Given the description of an element on the screen output the (x, y) to click on. 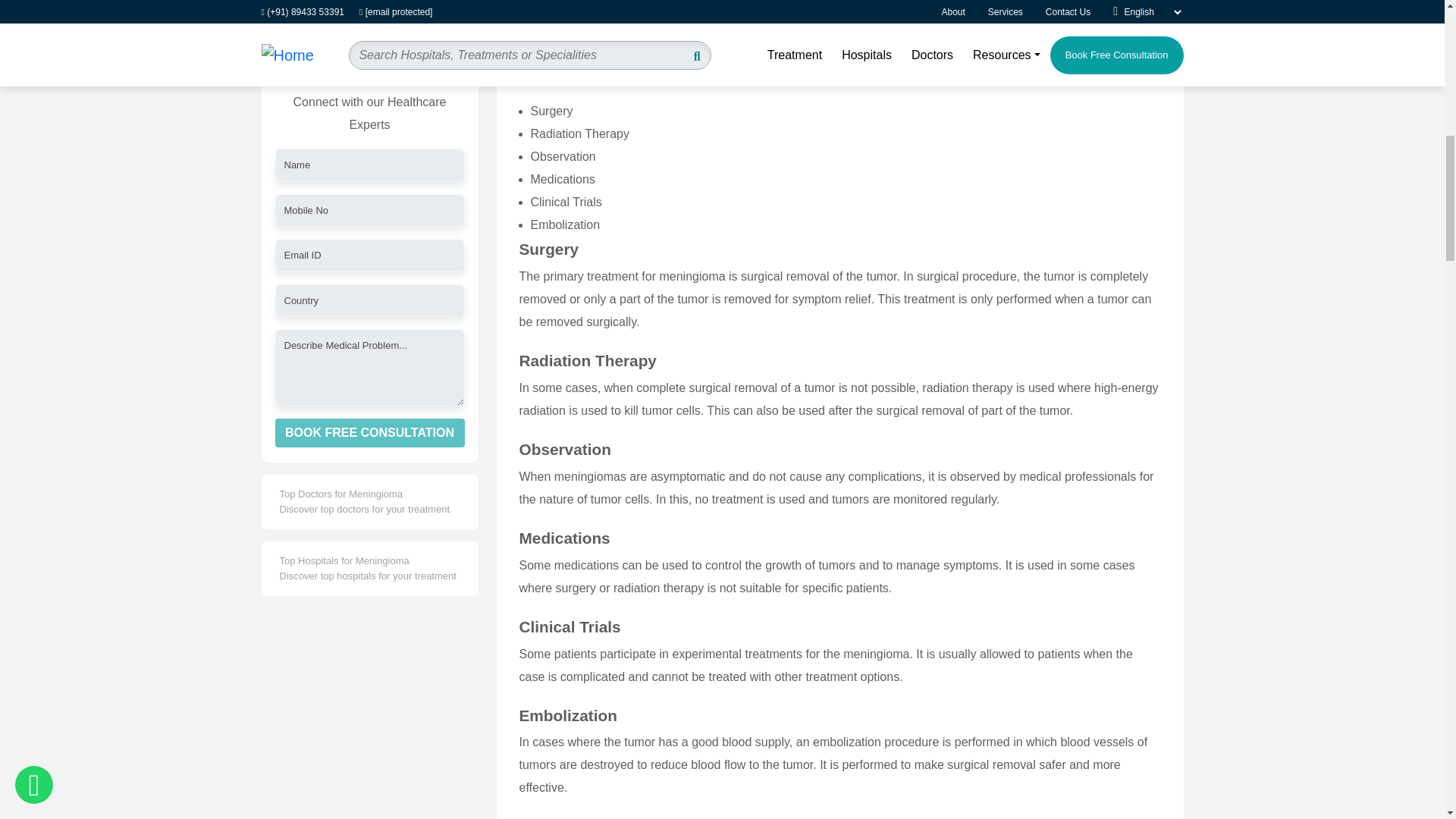
BOOK FREE CONSULTATION (369, 21)
